Given the description of an element on the screen output the (x, y) to click on. 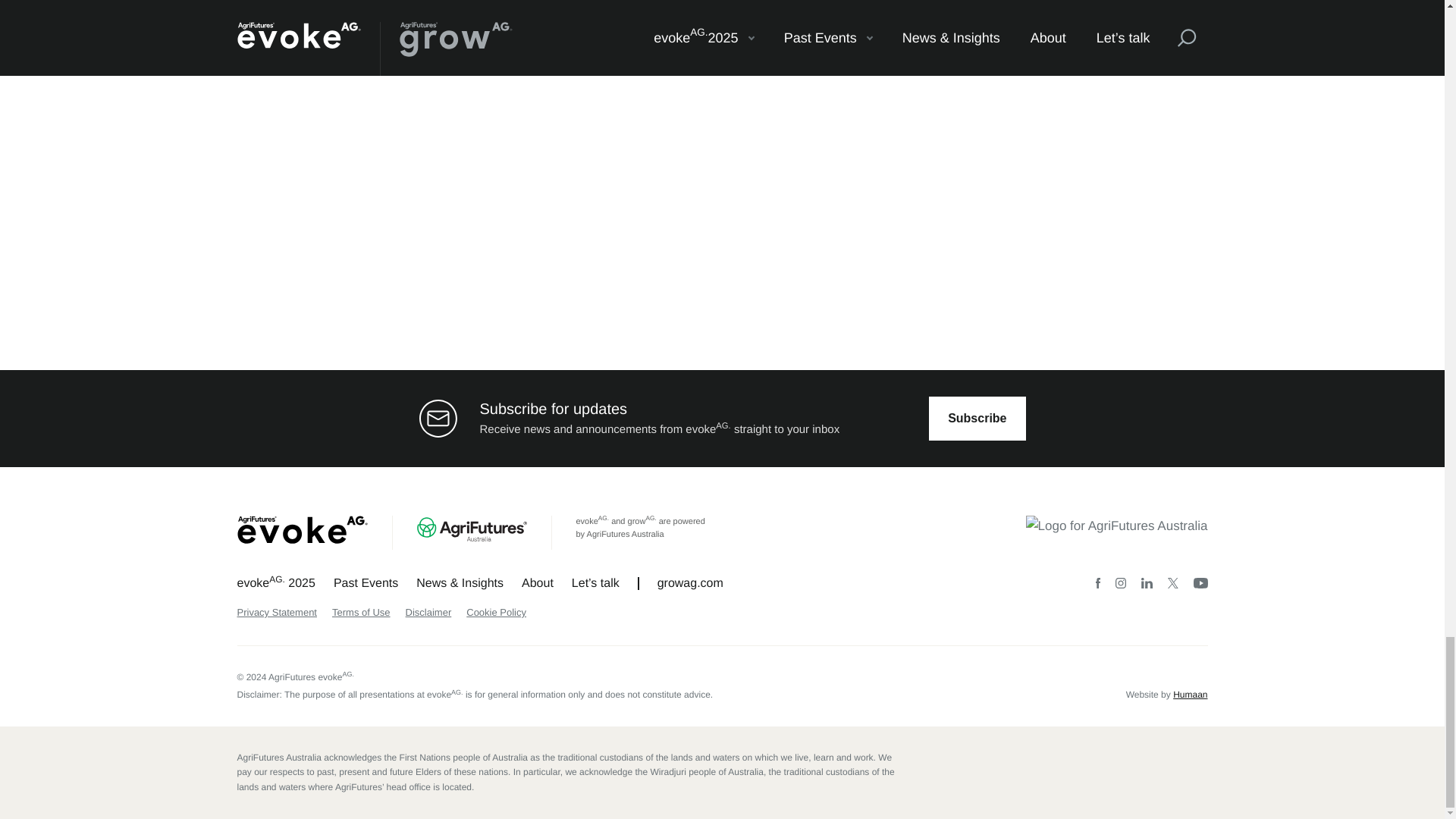
evokeAG. 2025 (274, 583)
Subscribe (976, 417)
